Given the description of an element on the screen output the (x, y) to click on. 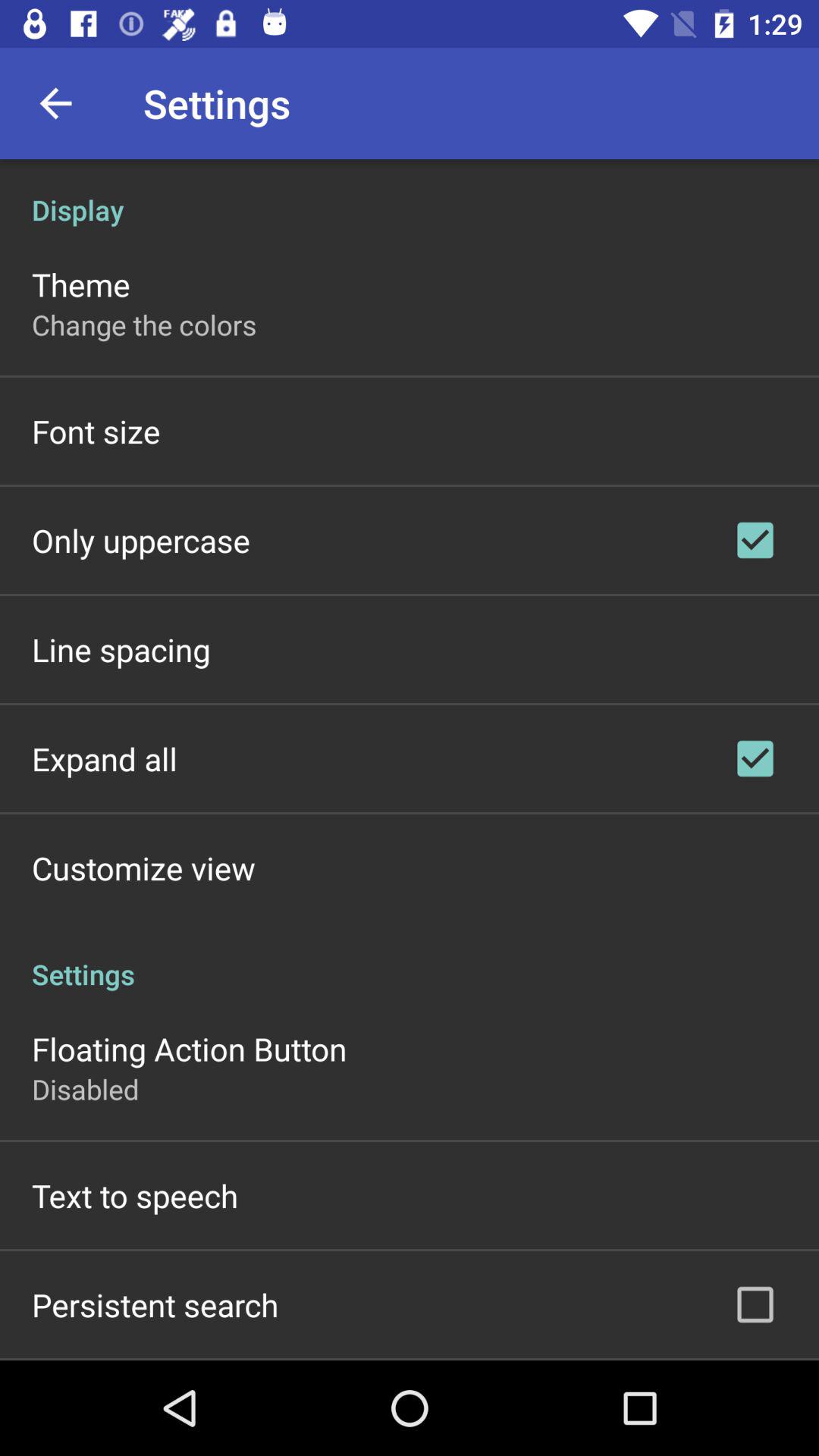
turn on item below the expand all item (143, 867)
